Given the description of an element on the screen output the (x, y) to click on. 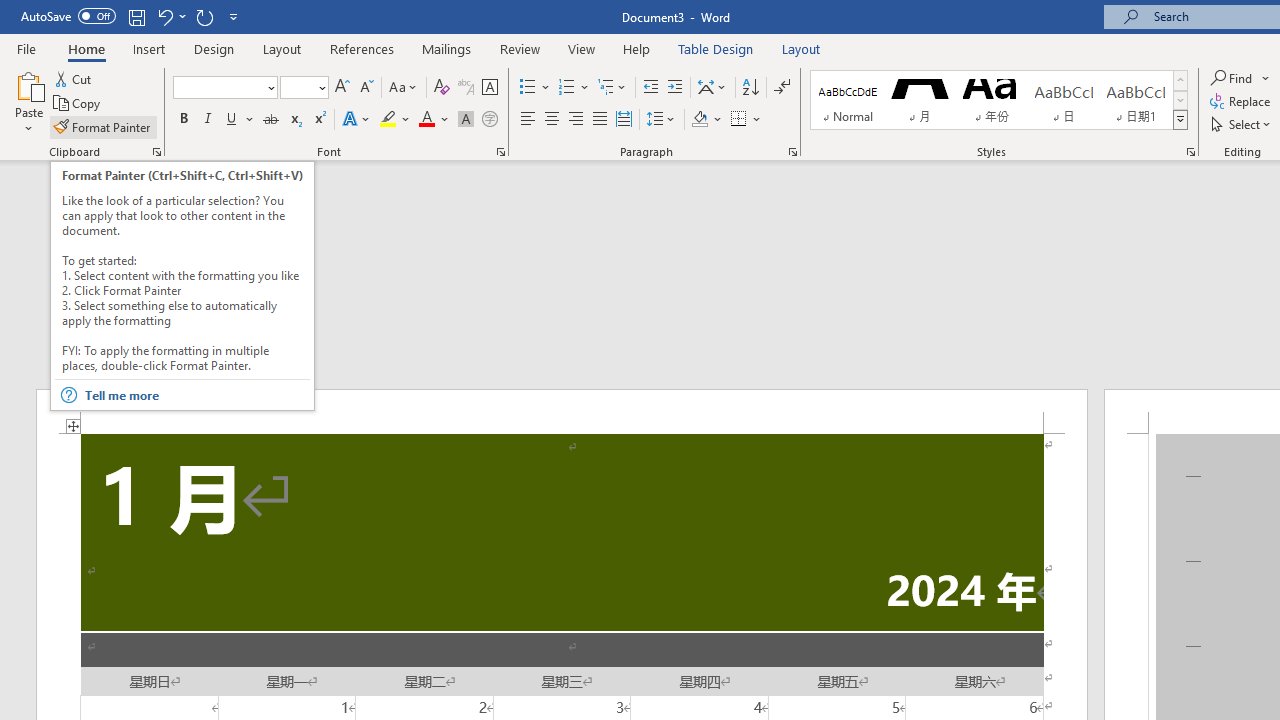
Strikethrough (270, 119)
Decrease Indent (650, 87)
Text Highlight Color Yellow (388, 119)
Sort... (750, 87)
Styles (1179, 120)
Bold (183, 119)
Asian Layout (712, 87)
Paragraph... (792, 151)
Repeat Doc Close (204, 15)
